Given the description of an element on the screen output the (x, y) to click on. 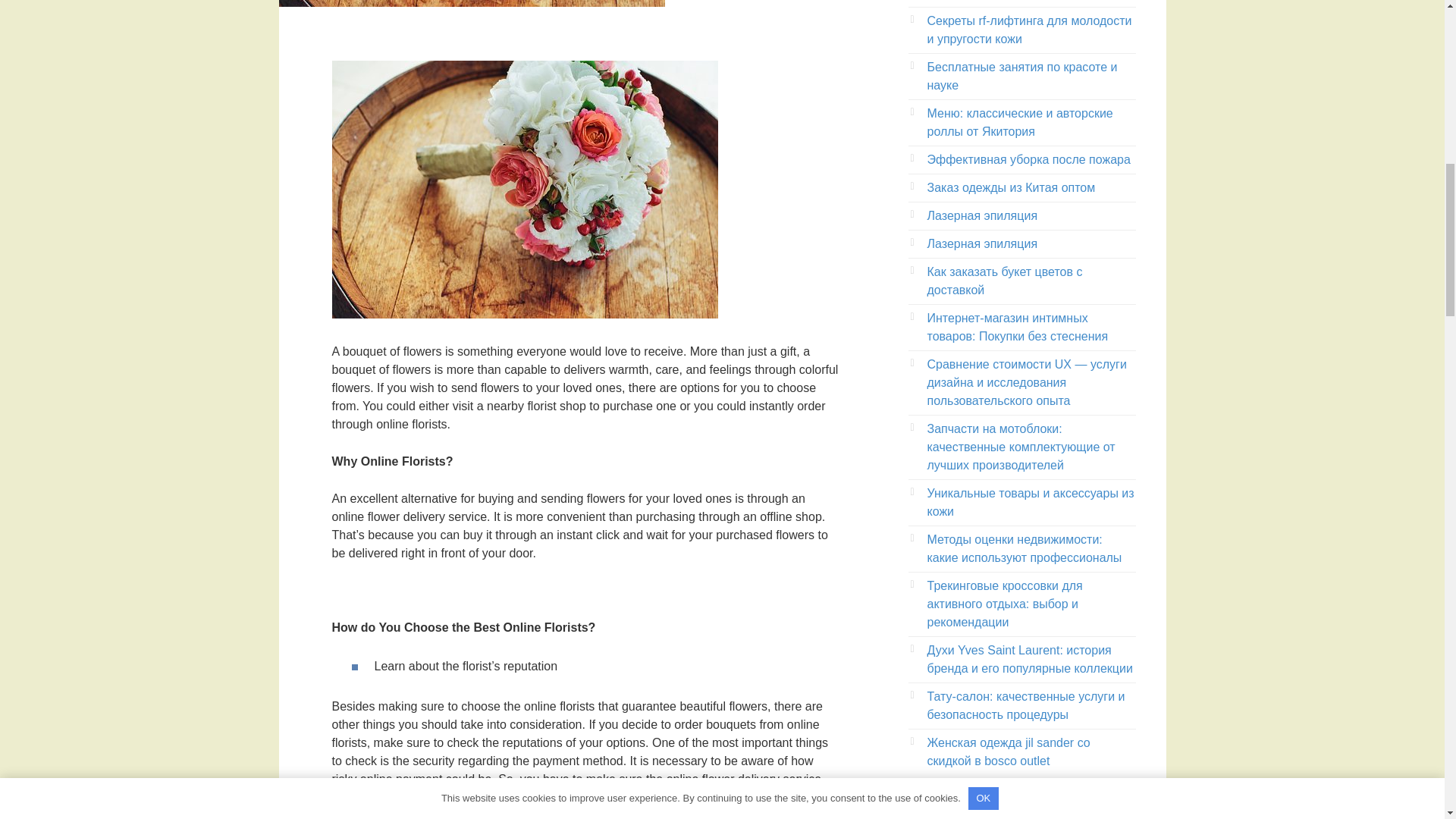
Advertisement (1021, 810)
